Given the description of an element on the screen output the (x, y) to click on. 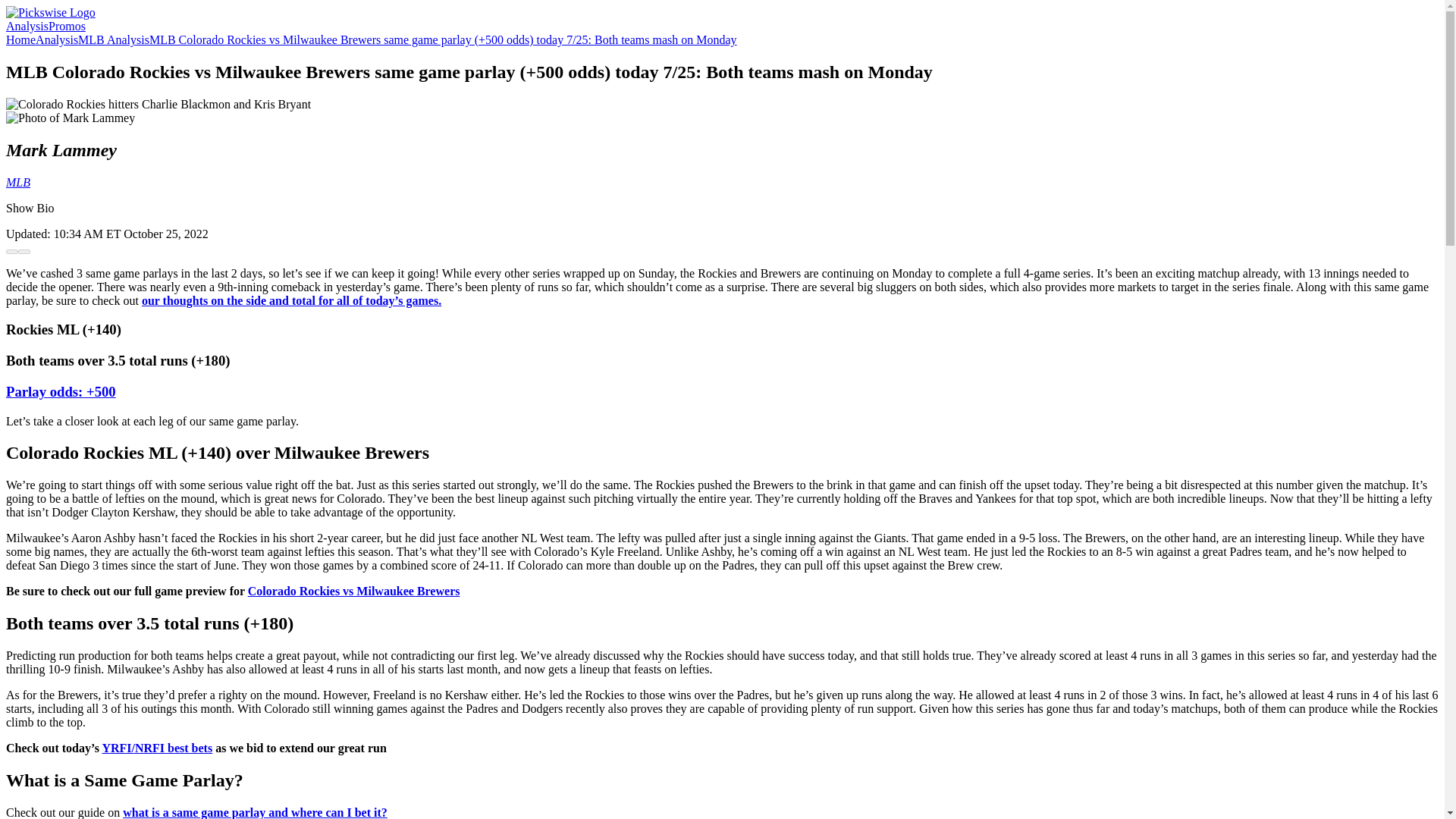
Analysis (56, 39)
Promos (66, 25)
what is a same game parlay and where can I bet it? (254, 812)
Analysis (26, 25)
Home (19, 39)
Colorado Rockies vs Milwaukee Brewers (353, 590)
MLB Analysis (113, 39)
MLB (17, 182)
